Given the description of an element on the screen output the (x, y) to click on. 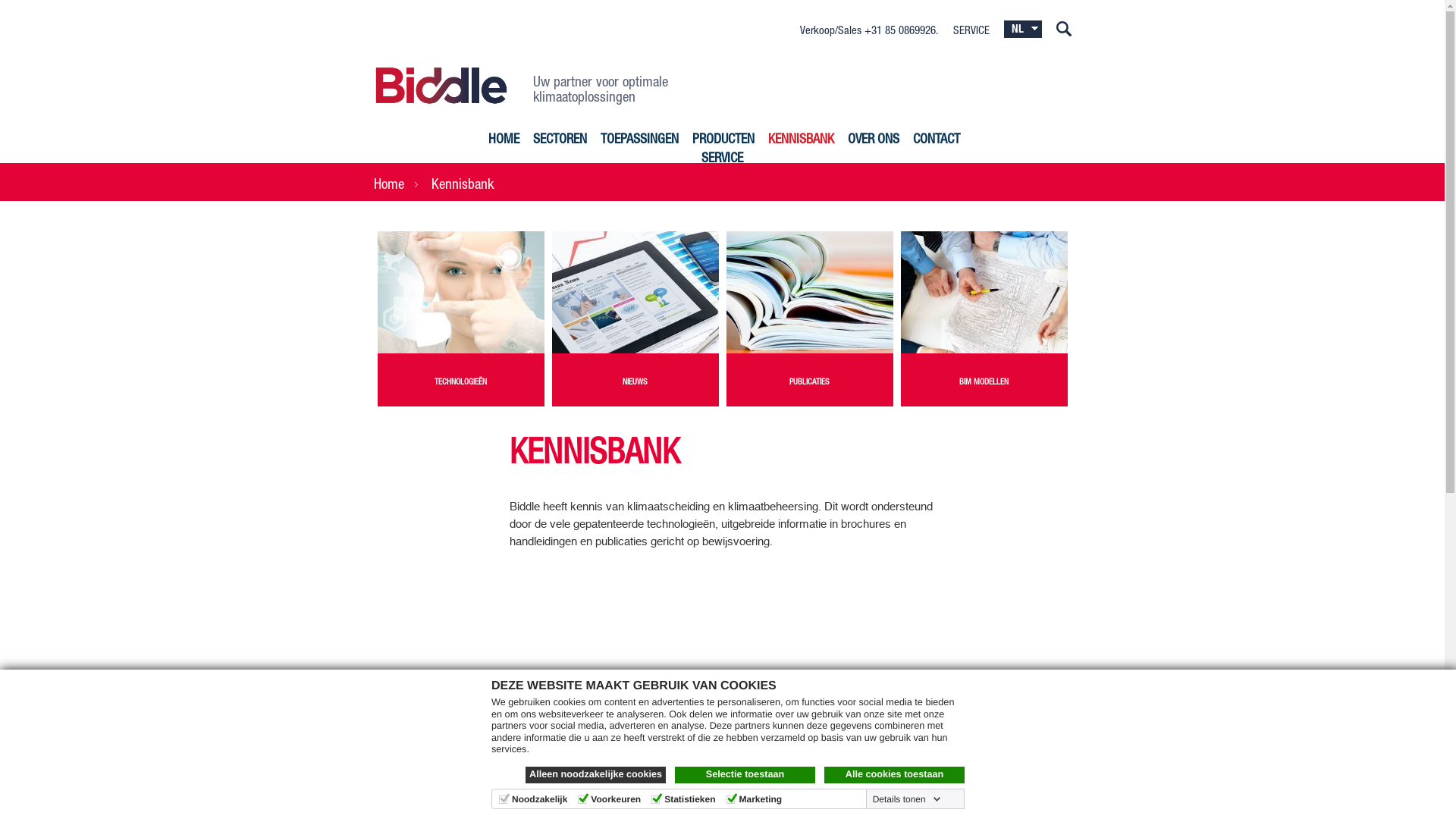
TOEPASSINGEN Element type: text (639, 140)
Selectie toestaan Element type: text (744, 774)
OVER ONS Element type: text (873, 140)
KENNISBANK Element type: text (801, 140)
SERVICE Element type: text (965, 31)
HOME Element type: text (503, 140)
Details tonen Element type: text (906, 799)
Biddle Element type: text (441, 84)
NL Element type: text (1022, 29)
Diverse publicaties Element type: hover (809, 292)
PRODUCTEN Element type: text (723, 140)
SERVICE Element type: text (722, 159)
NIEUWS Element type: text (635, 318)
BIM MODELLEN Element type: text (983, 318)
PUBLICATIES Element type: text (809, 318)
Alle cookies toestaan Element type: text (894, 774)
Kennisbank Element type: text (468, 184)
Alleen noodzakelijke cookies Element type: text (595, 774)
Home Element type: text (395, 184)
SECTOREN Element type: text (559, 140)
CONTACT Element type: text (936, 140)
